Given the description of an element on the screen output the (x, y) to click on. 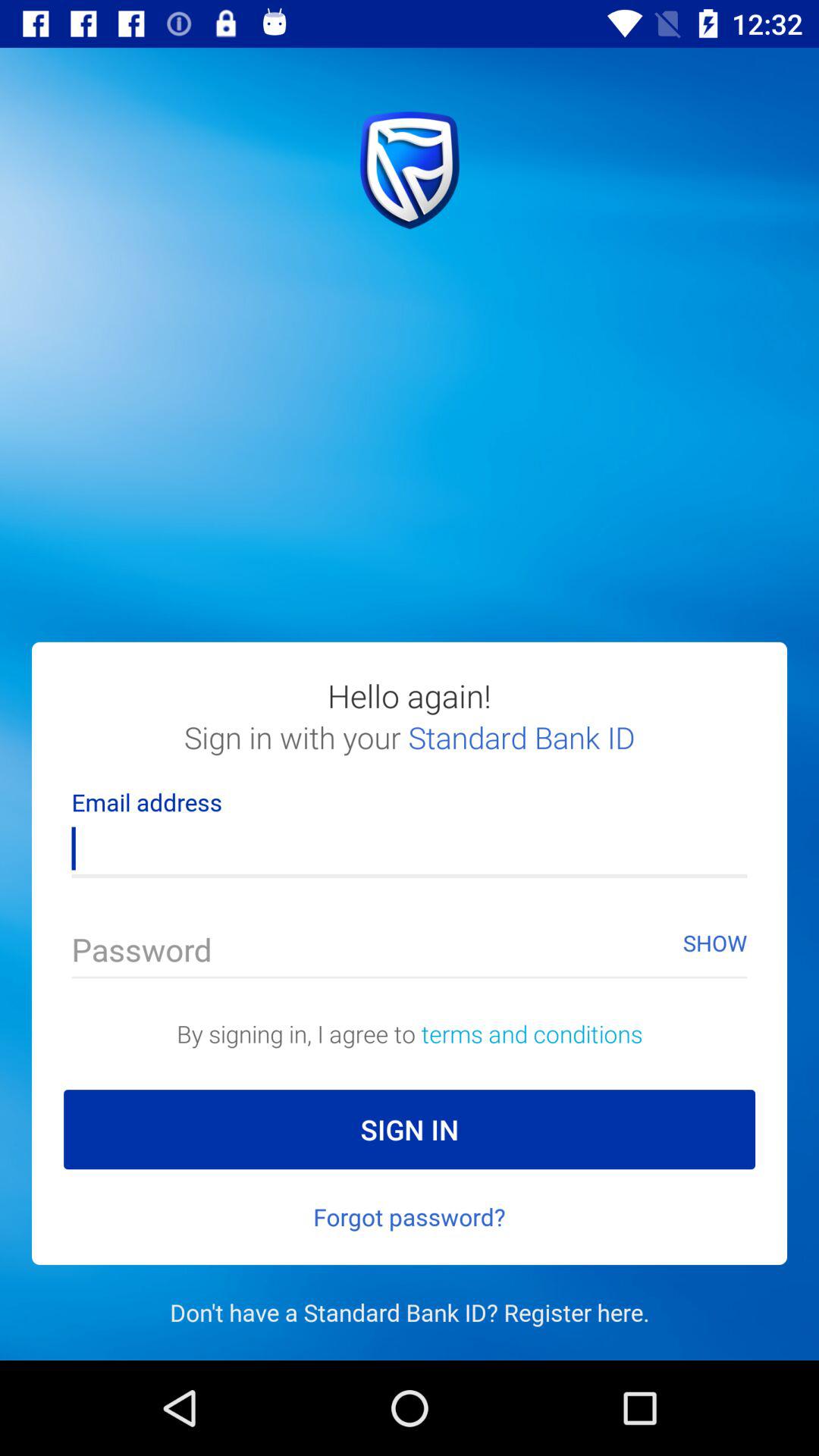
bring up password keyboard (409, 953)
